Given the description of an element on the screen output the (x, y) to click on. 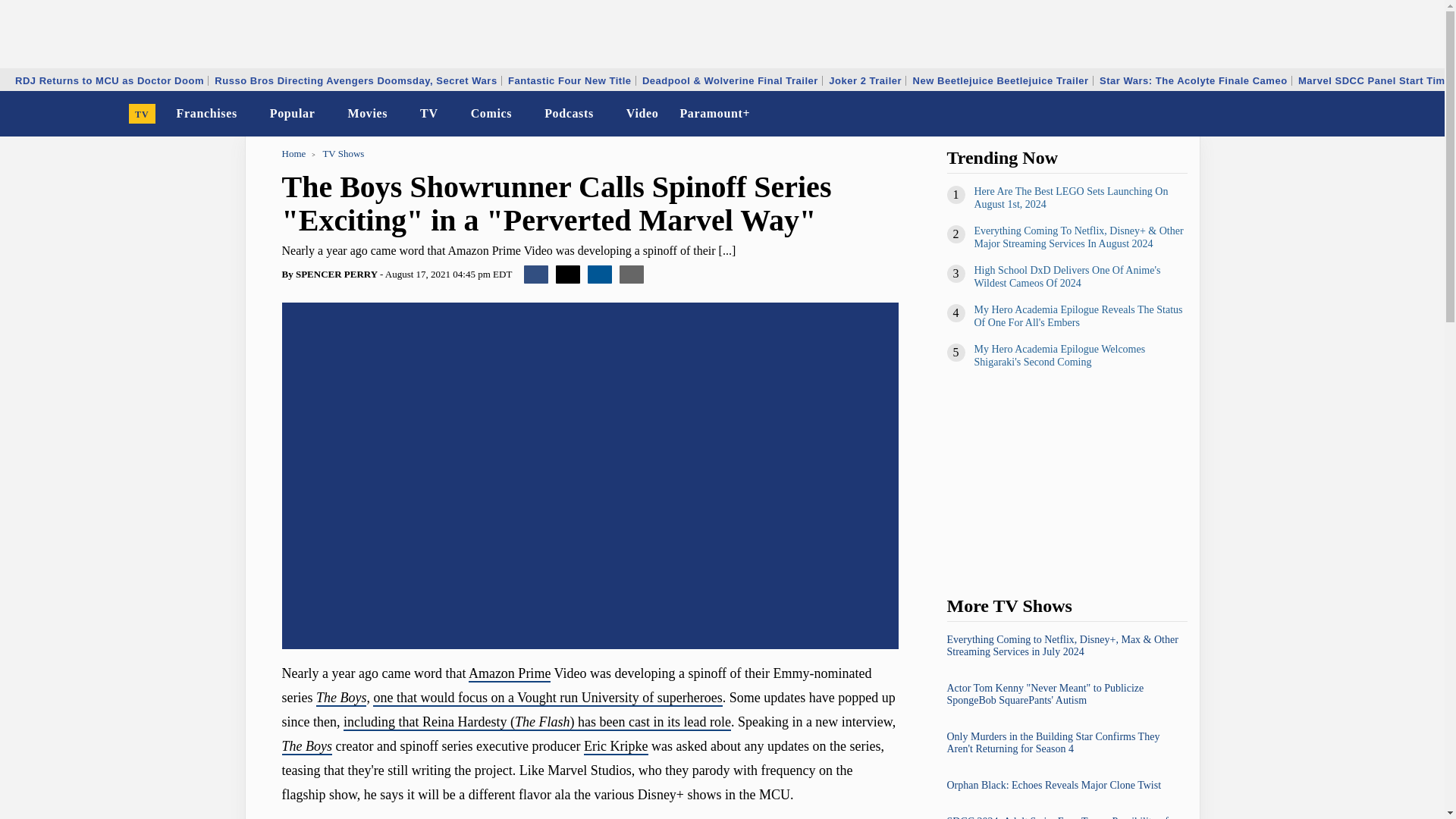
RDJ Returns to MCU as Doctor Doom (109, 80)
TV (142, 113)
Dark Mode (1394, 113)
Russo Bros Directing Avengers Doomsday, Secret Wars (355, 80)
Search (1422, 114)
Star Wars: The Acolyte Finale Cameo (1193, 80)
Movies (366, 113)
Popular (292, 113)
New Beetlejuice Beetlejuice Trailer (1000, 80)
Joker 2 Trailer (865, 80)
Fantastic Four New Title (568, 80)
